Given the description of an element on the screen output the (x, y) to click on. 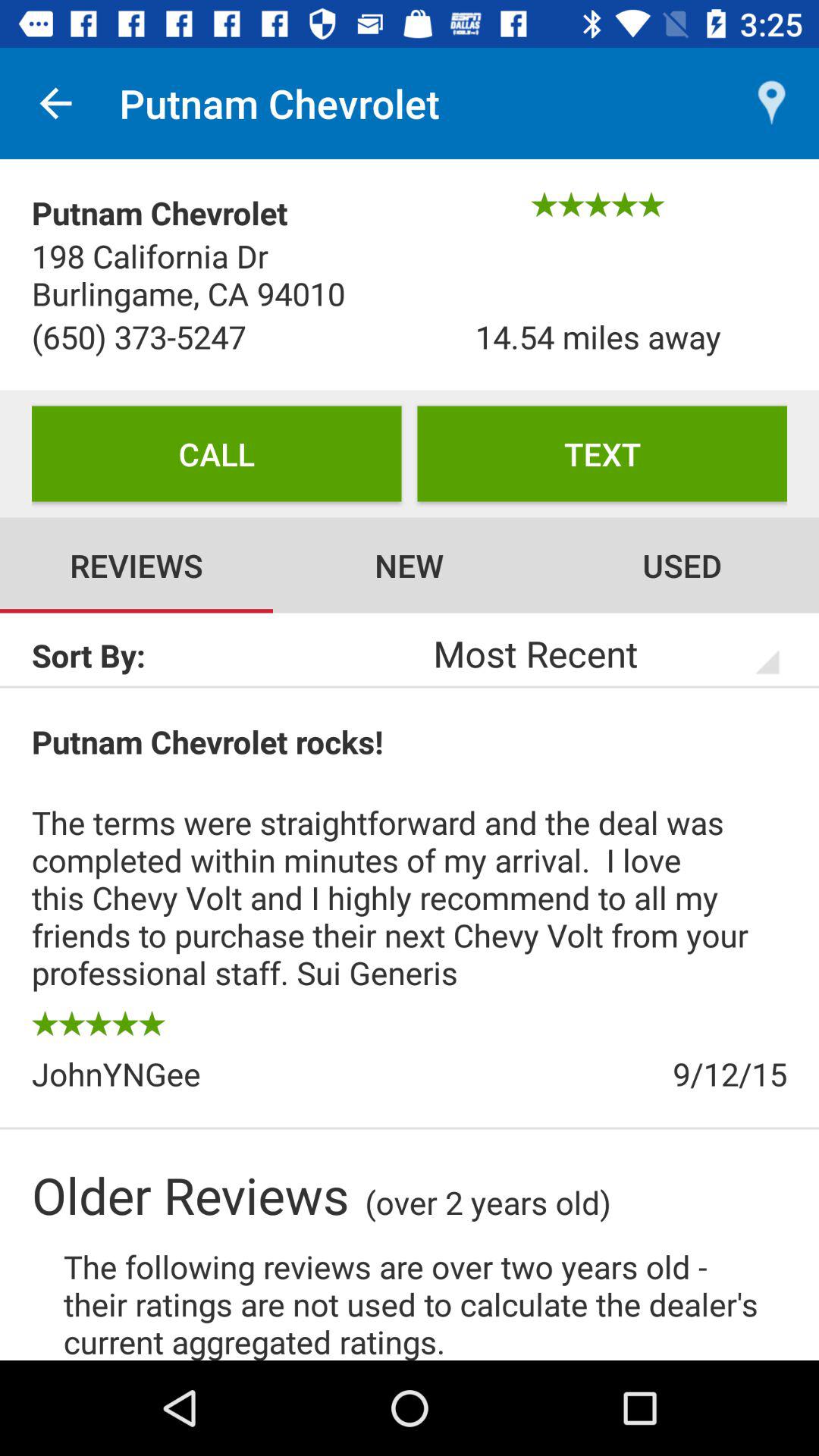
tap item next to most recent item (220, 654)
